Given the description of an element on the screen output the (x, y) to click on. 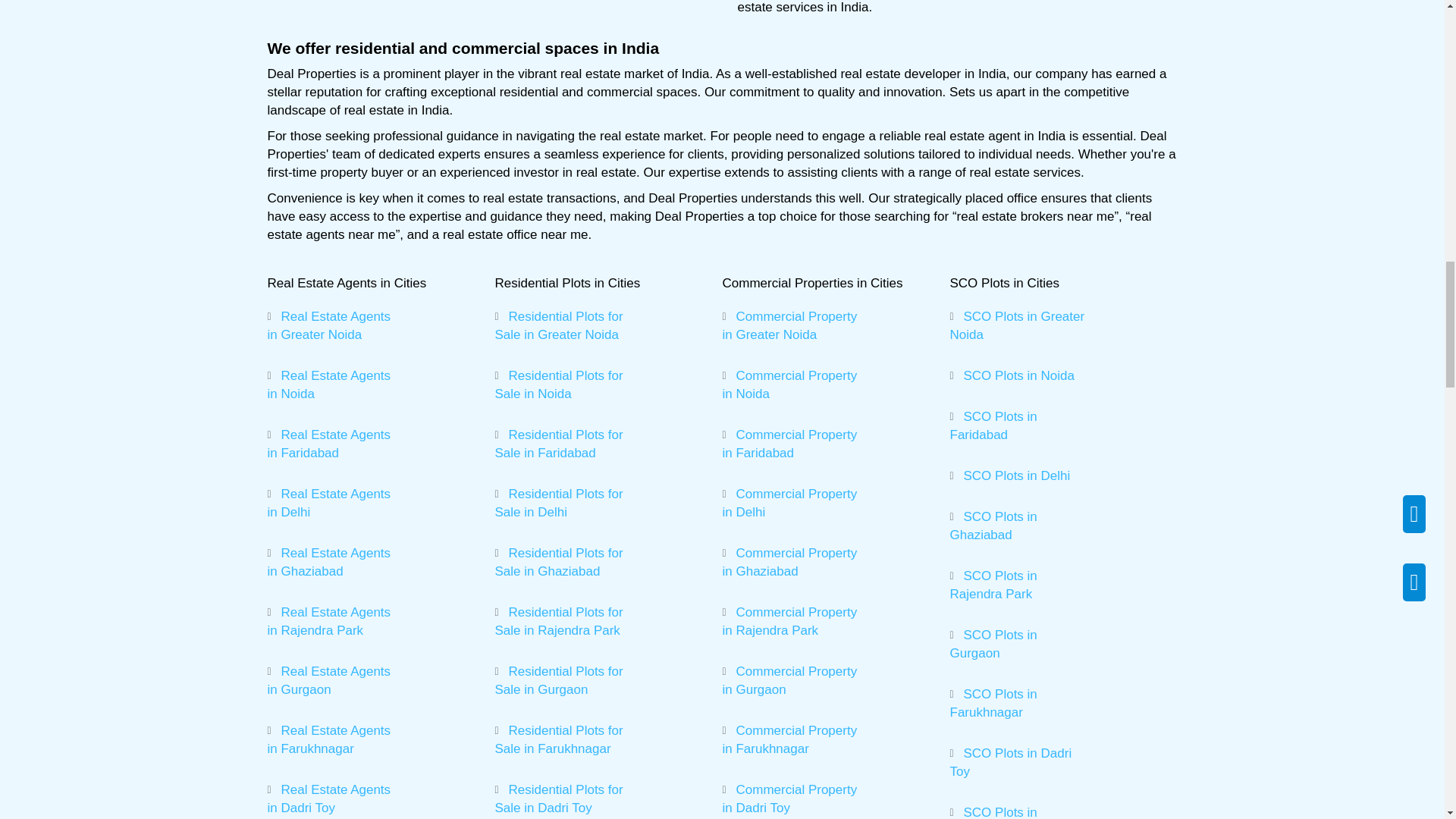
Real Estate Agents in Delhi (328, 502)
Real Estate Agents in Dadri Toy (328, 798)
Real Estate Agents in Farukhnagar (328, 739)
Real Estate Agents in Ghaziabad (328, 562)
Real Estate Agents in Noida (328, 384)
Residential Plots for Sale in Greater Noida (559, 325)
Real Estate Agents in Greater Noida (328, 325)
Real Estate Agents in Faridabad (328, 443)
Residential Plots for Sale in Noida (559, 384)
Real Estate Agents in Gurgaon (328, 680)
Real Estate Agents in Rajendra Park (328, 621)
